Given the description of an element on the screen output the (x, y) to click on. 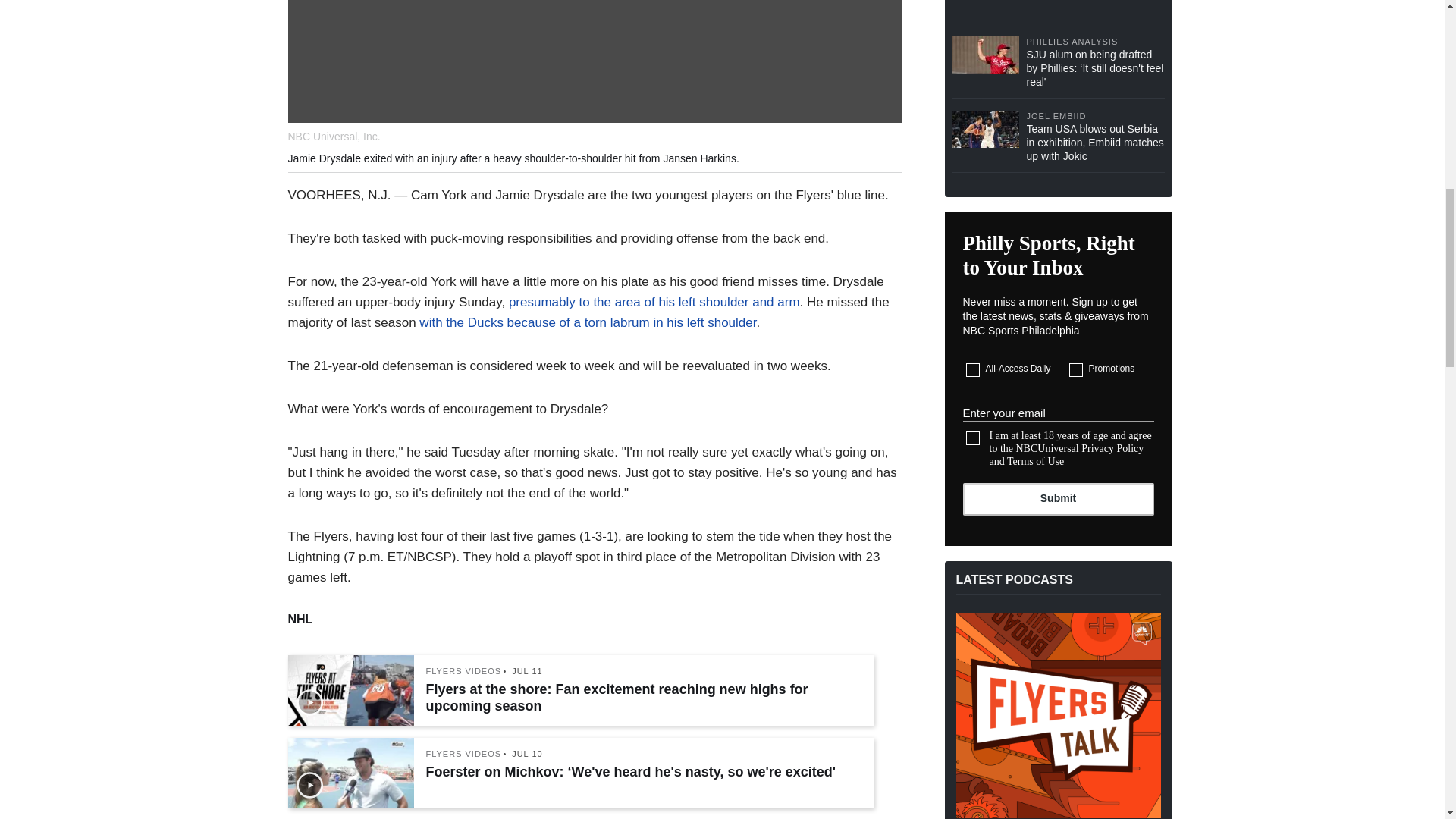
on (1075, 369)
FLYERS VIDEOS (464, 754)
FLYERS VIDEOS (464, 671)
on (972, 438)
with the Ducks because of a torn labrum in his left shoulder (587, 322)
presumably to the area of his left shoulder and arm (653, 301)
on (972, 369)
